Given the description of an element on the screen output the (x, y) to click on. 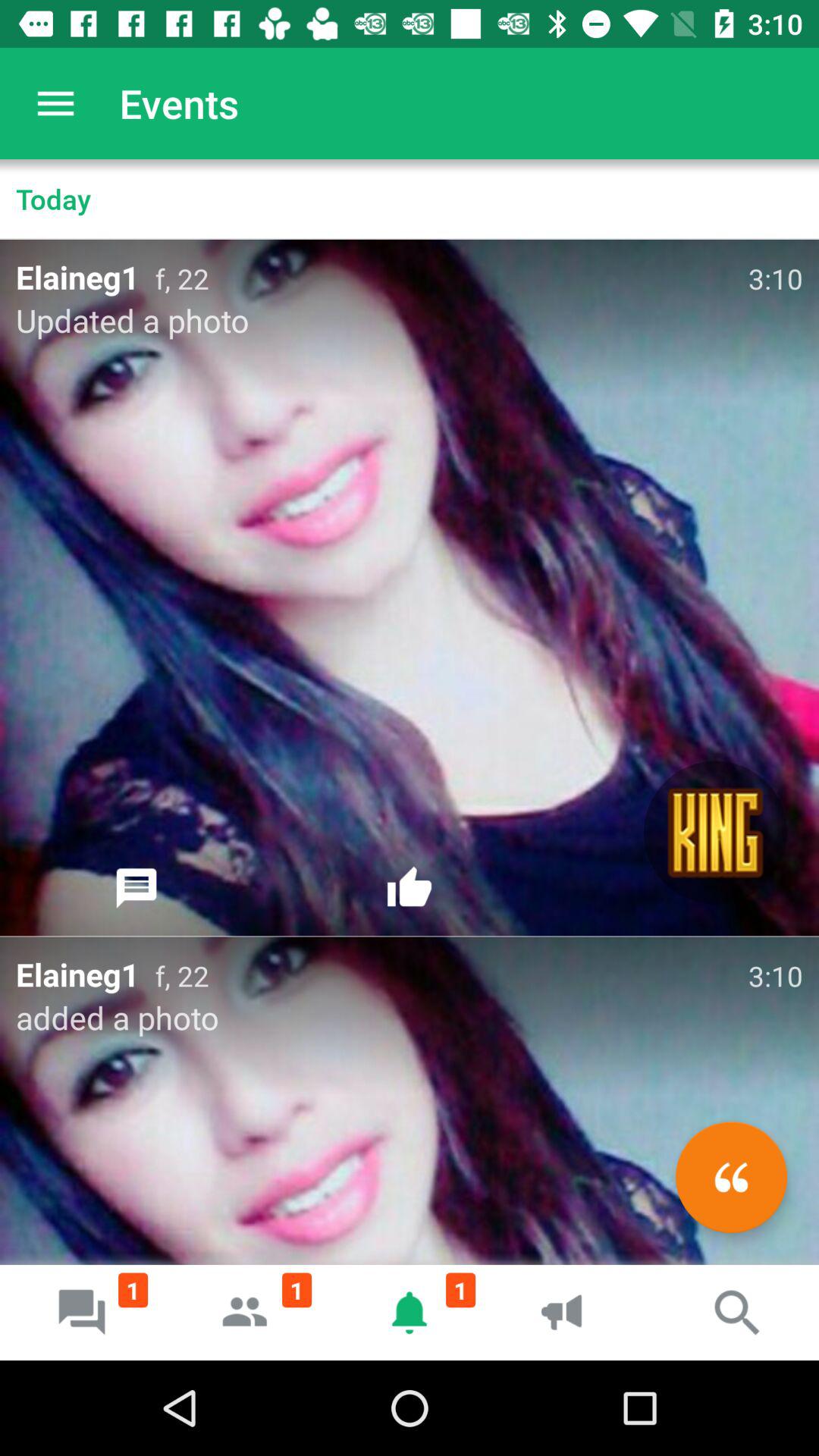
post a comment (136, 888)
